Given the description of an element on the screen output the (x, y) to click on. 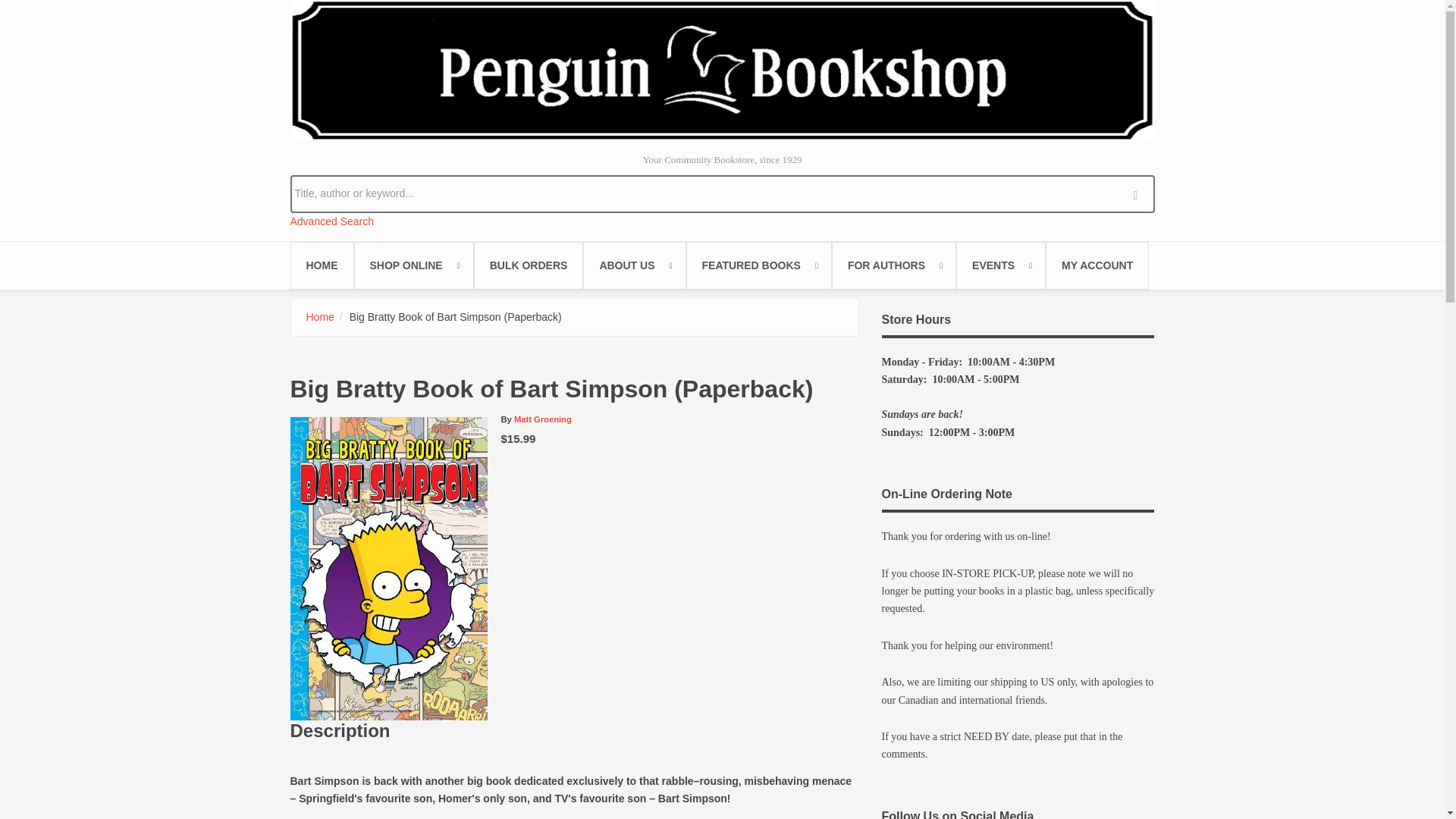
BULK ORDERS (528, 265)
Advanced Search (331, 221)
Matt Groening (542, 419)
ABOUT US (634, 265)
HOME (321, 265)
FOR AUTHORS (893, 265)
Home (721, 69)
Title, author or keyword... (721, 193)
EVENTS (1000, 265)
Home (319, 316)
Self-published author information (893, 265)
SHOP ONLINE (413, 265)
MY ACCOUNT (1096, 265)
FEATURED BOOKS (758, 265)
